Given the description of an element on the screen output the (x, y) to click on. 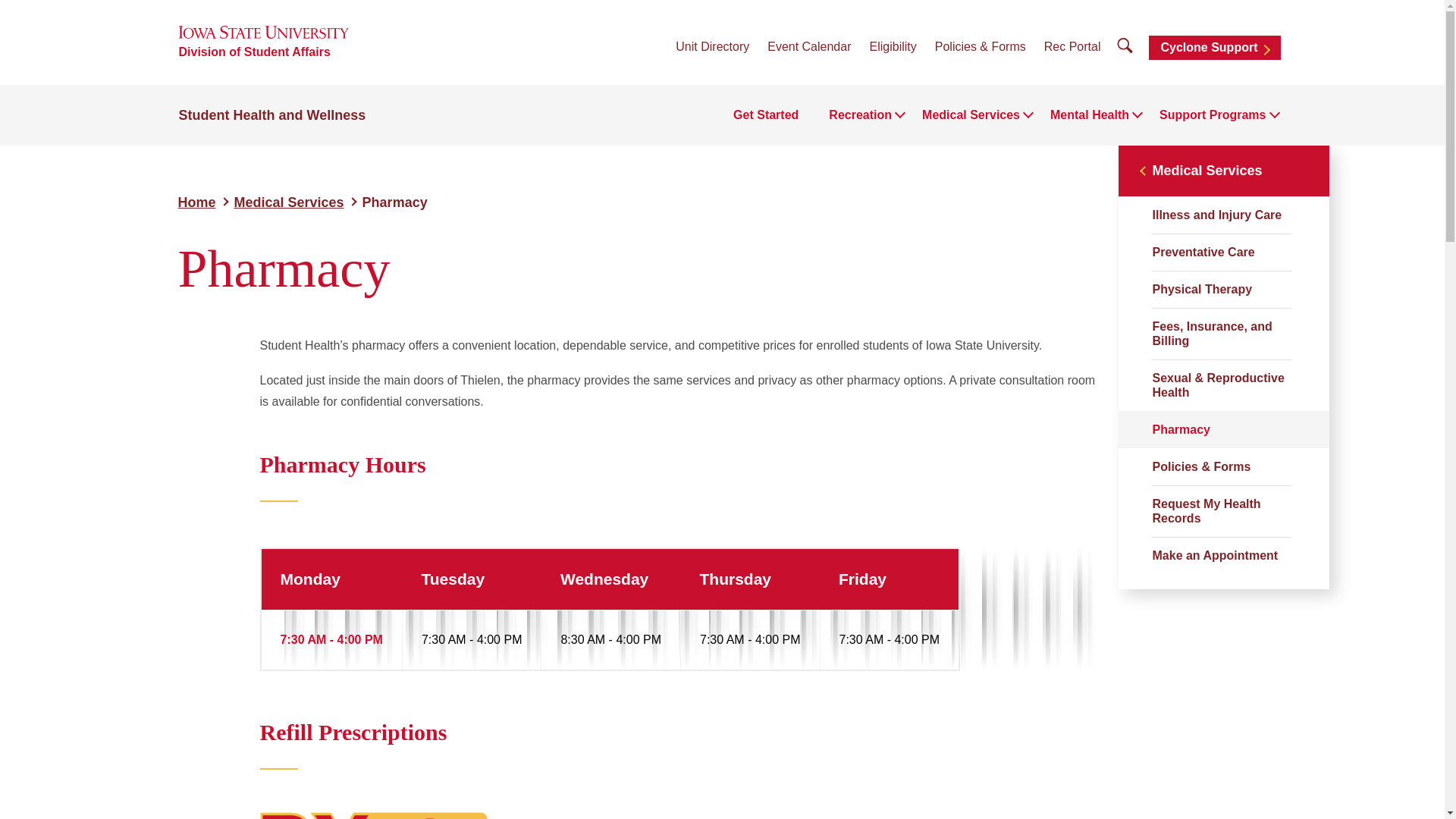
Unit Directory (712, 46)
Search (1125, 45)
Recreation (859, 115)
Event Calendar (808, 46)
Eligibility (892, 46)
Division of Student Affairs (254, 51)
Student Health and Wellness (272, 114)
Medical Services (970, 115)
Get Started (765, 115)
